Given the description of an element on the screen output the (x, y) to click on. 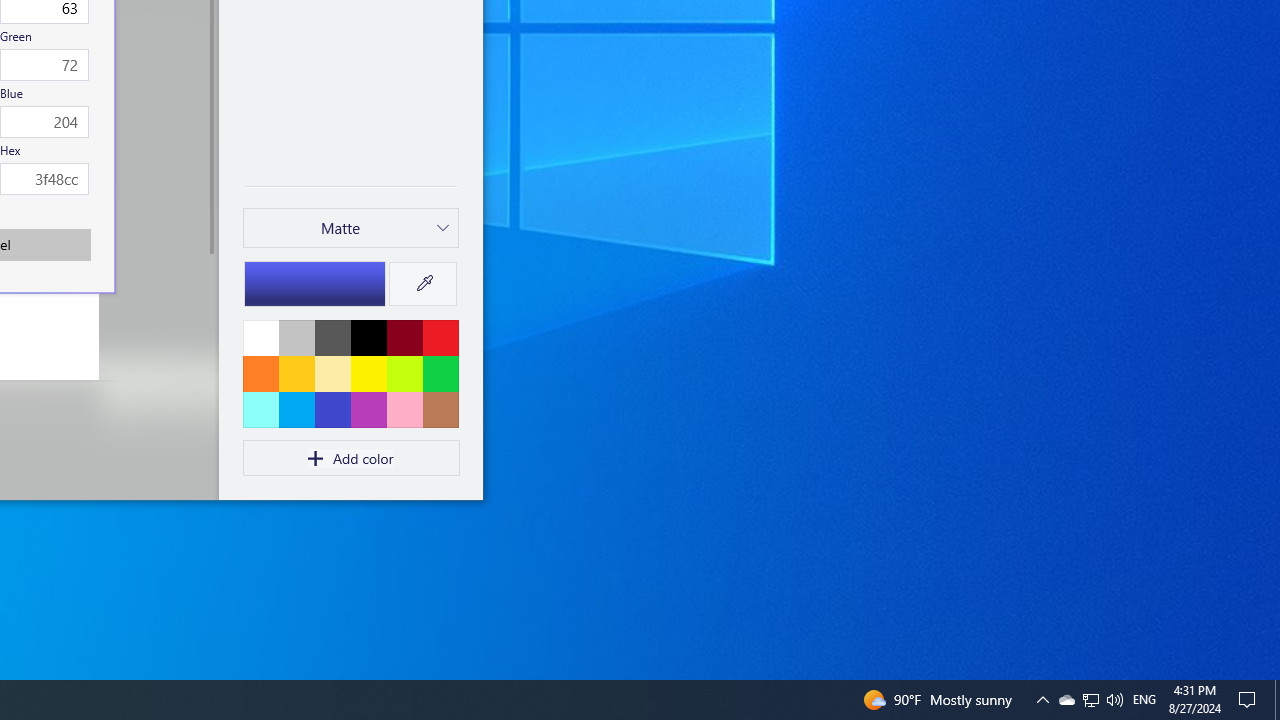
Show desktop (1277, 699)
Action Center, No new notifications (1250, 699)
Q2790: 100% (1091, 699)
User Promoted Notification Area (1114, 699)
Tray Input Indicator - English (United States) (1090, 699)
Notification Chevron (1066, 699)
